Given the description of an element on the screen output the (x, y) to click on. 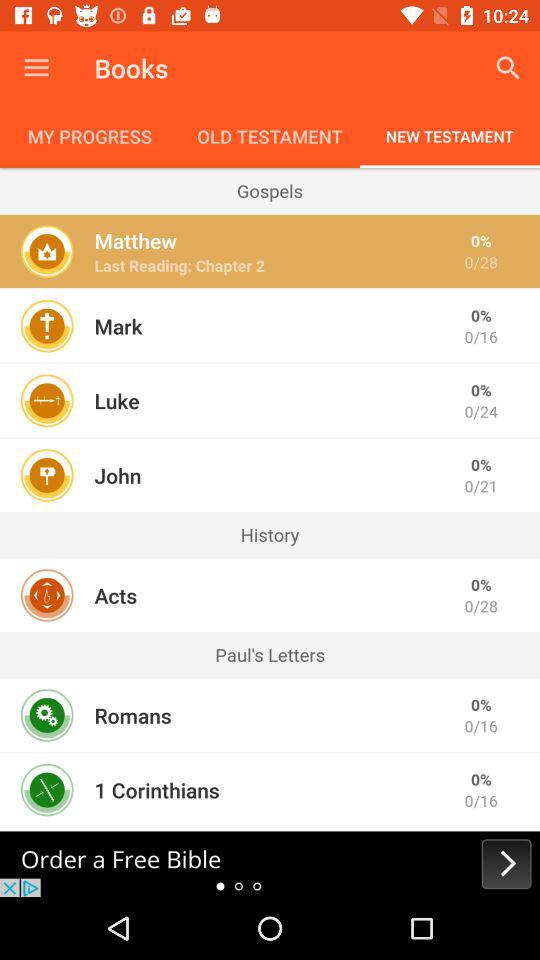
select icon above history (117, 475)
